Given the description of an element on the screen output the (x, y) to click on. 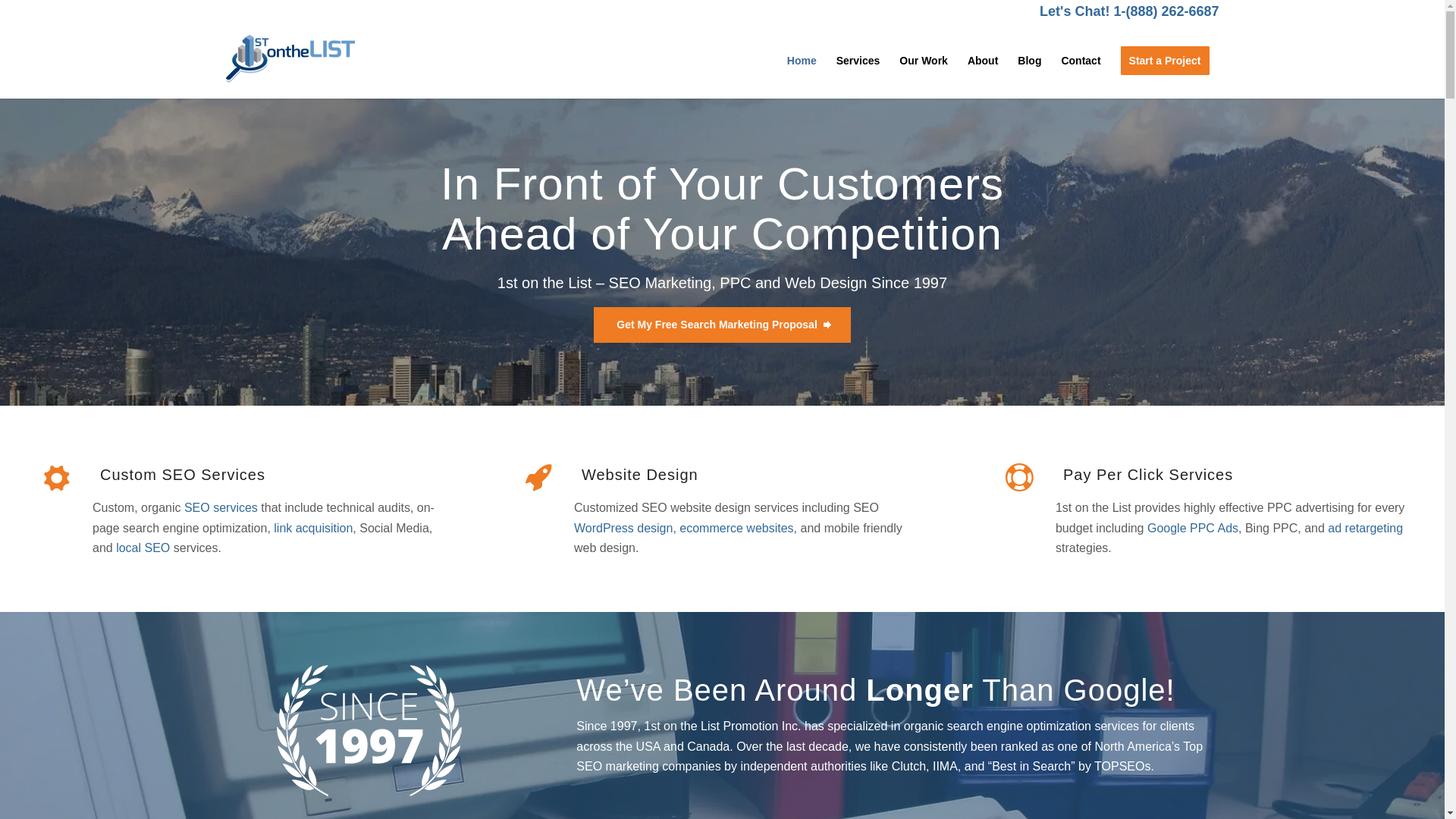
Let's Chat! 1-(888) 262-6687 Element type: text (1128, 10)
Our Work Element type: text (923, 60)
Google PPC Ads Element type: text (1192, 527)
About Element type: text (982, 60)
ad retargeting Element type: text (1364, 527)
Blog Element type: text (1029, 60)
local SEO Element type: text (142, 547)
WordPress design Element type: text (623, 527)
1st on the list logo Element type: hover (289, 58)
Get My Free Search Marketing Proposal Element type: text (721, 324)
link acquisition Element type: text (312, 527)
Contact Element type: text (1080, 60)
Start a Project Element type: text (1164, 60)
1otl-laurels-250 Element type: hover (371, 730)
Pay Per Click Services Element type: text (1148, 474)
ecommerce websites Element type: text (736, 527)
Home Element type: text (801, 60)
Website Design Element type: text (639, 474)
Custom SEO Services Element type: text (182, 474)
Services Element type: text (858, 60)
SEO services Element type: text (220, 507)
